Given the description of an element on the screen output the (x, y) to click on. 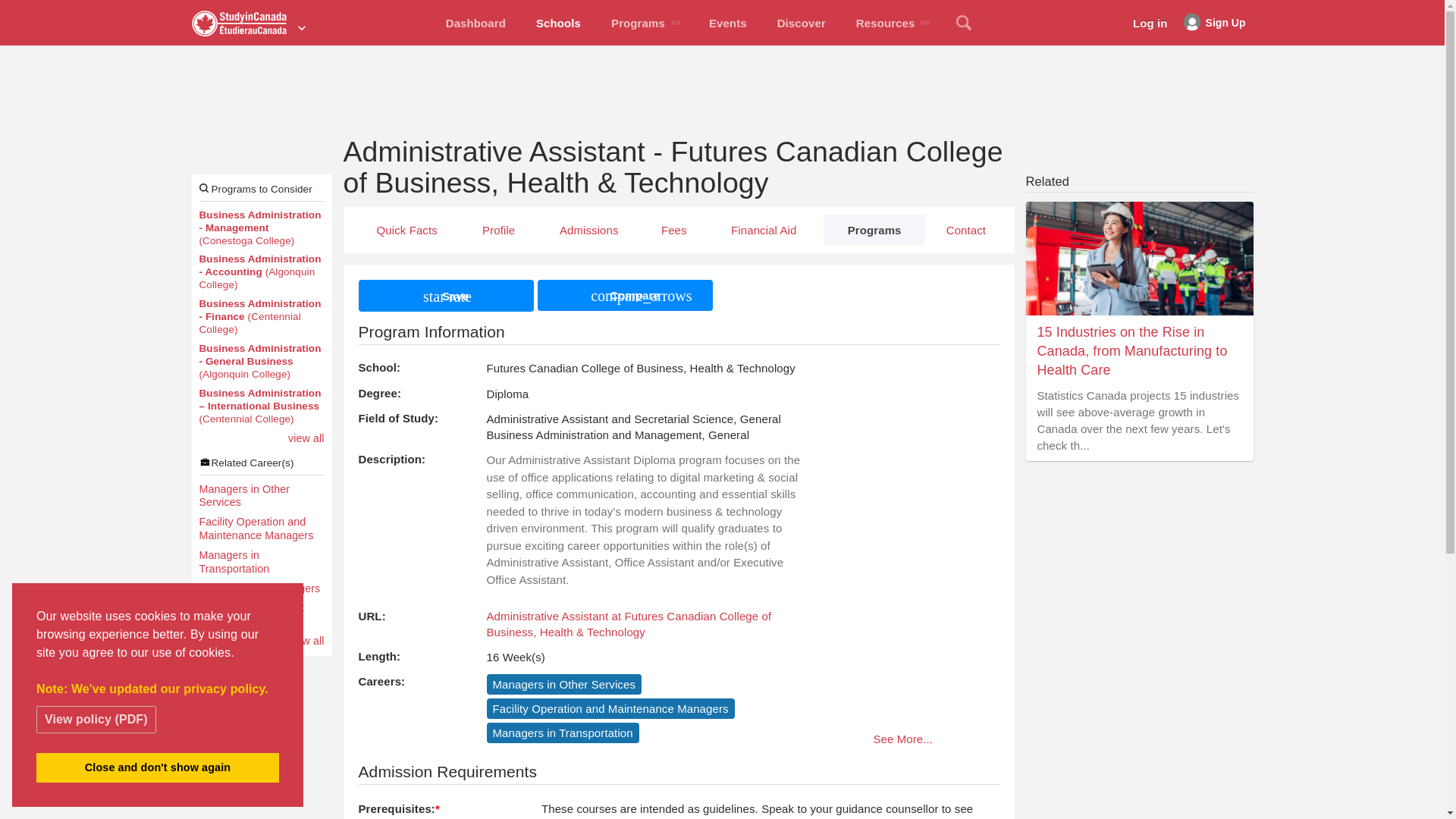
Programs (644, 22)
Facility Operation and Maintenance Managers (260, 528)
Events (727, 22)
Events (727, 22)
Manufacturing Managers (260, 589)
Admissions (588, 228)
Sign Up (1213, 22)
Managers in Transportation (260, 562)
Schools (558, 22)
Advertisement (721, 87)
Close and don't show again (157, 767)
view all (306, 438)
Resources (892, 22)
Discover (801, 22)
view all (306, 641)
